Given the description of an element on the screen output the (x, y) to click on. 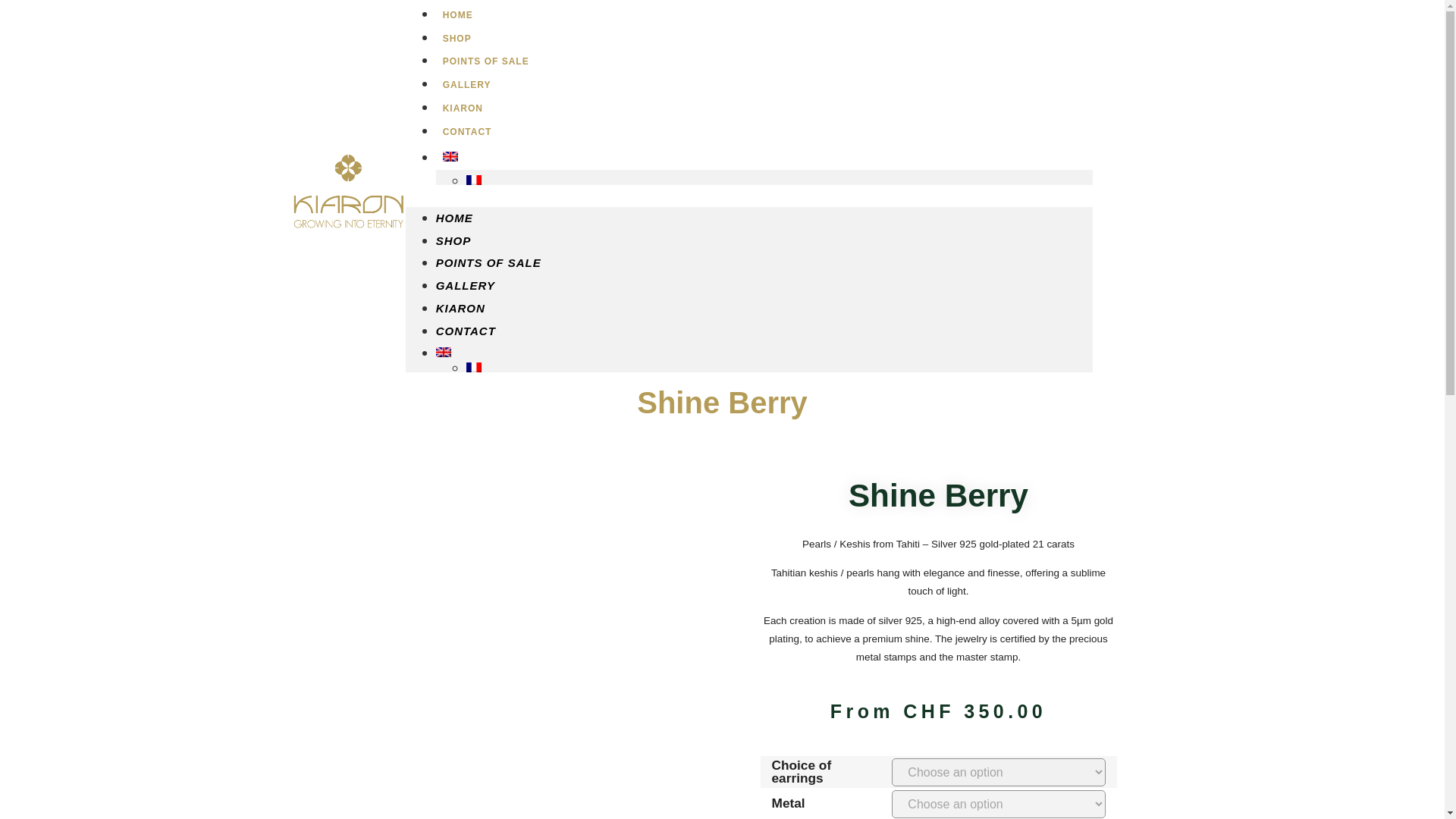
CONTACT (465, 330)
SHOP (457, 38)
HOME (454, 217)
SHOP (453, 239)
KIARON (462, 108)
POINTS OF SALE (488, 262)
POINTS OF SALE (485, 61)
GALLERY (465, 285)
KIARON (459, 308)
GALLERY (466, 84)
CONTACT (467, 131)
HOME (457, 14)
